Given the description of an element on the screen output the (x, y) to click on. 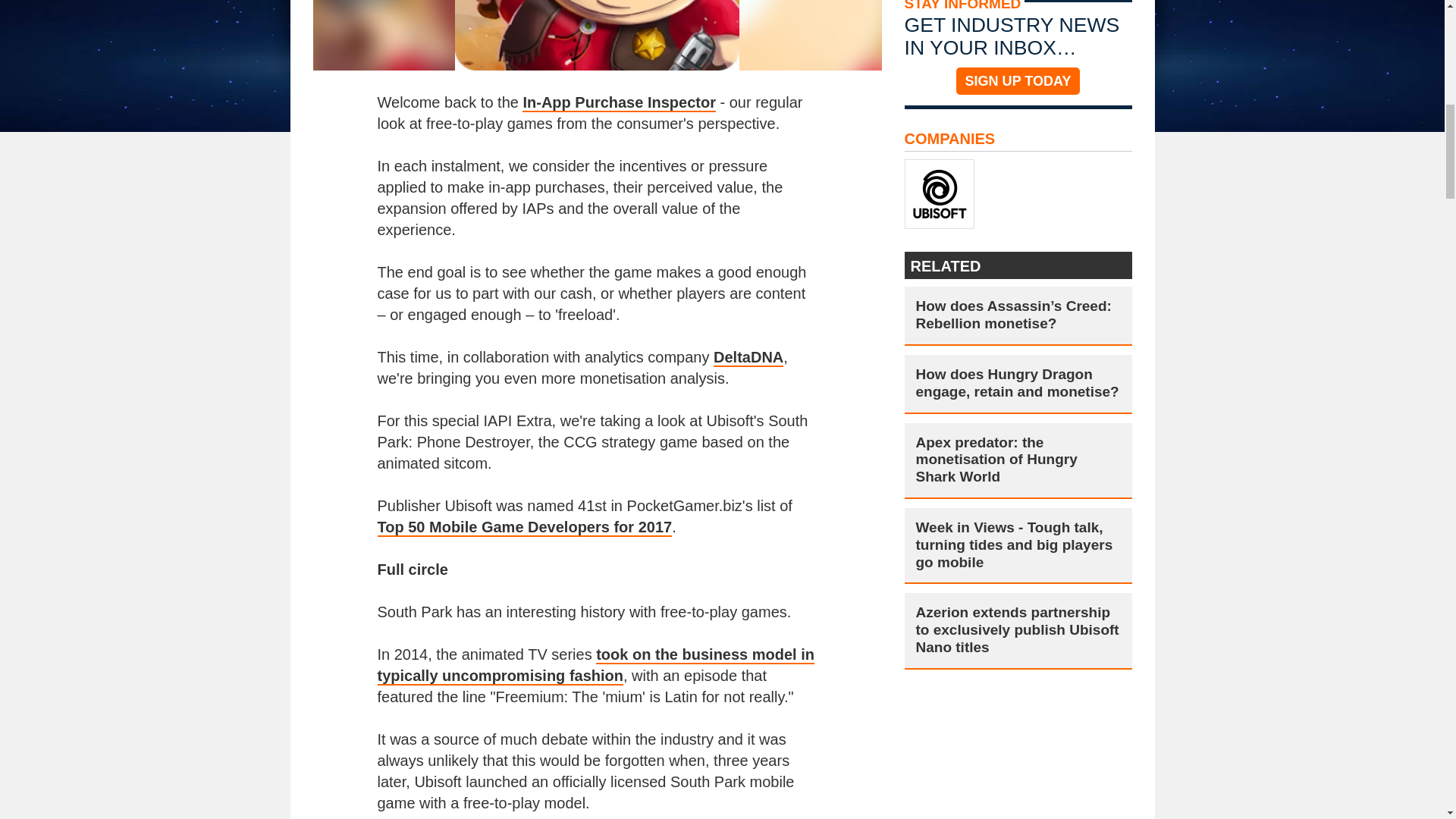
Top 50 Mobile Game Developers for 2017 (524, 527)
In-App Purchase Inspector (619, 103)
DeltaDNA (748, 357)
